Given the description of an element on the screen output the (x, y) to click on. 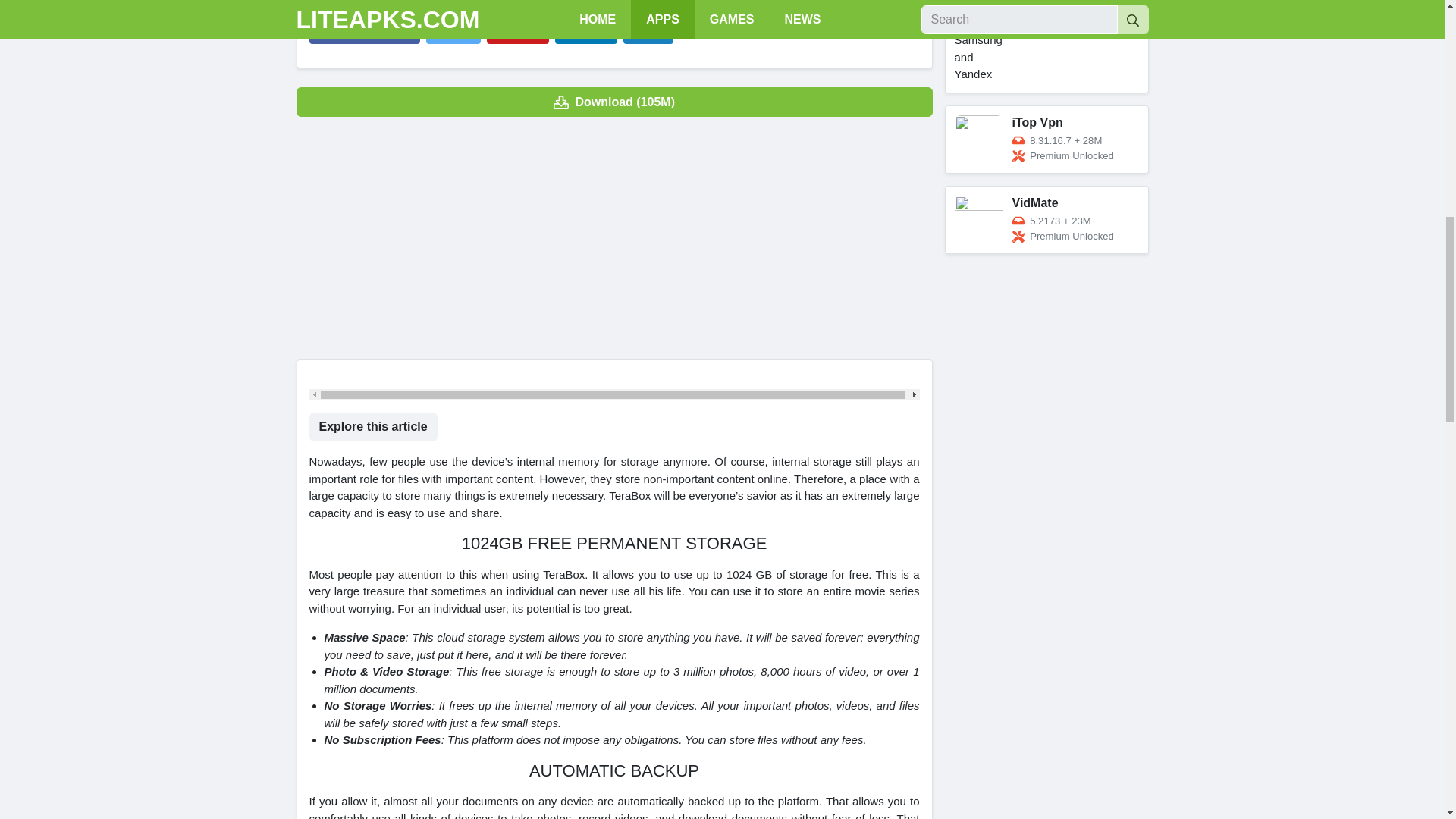
Email (648, 33)
Twitter (453, 33)
Explore this article (373, 426)
Linkedin (584, 33)
Share On Facebook (364, 33)
Pinterest (517, 33)
